Given the description of an element on the screen output the (x, y) to click on. 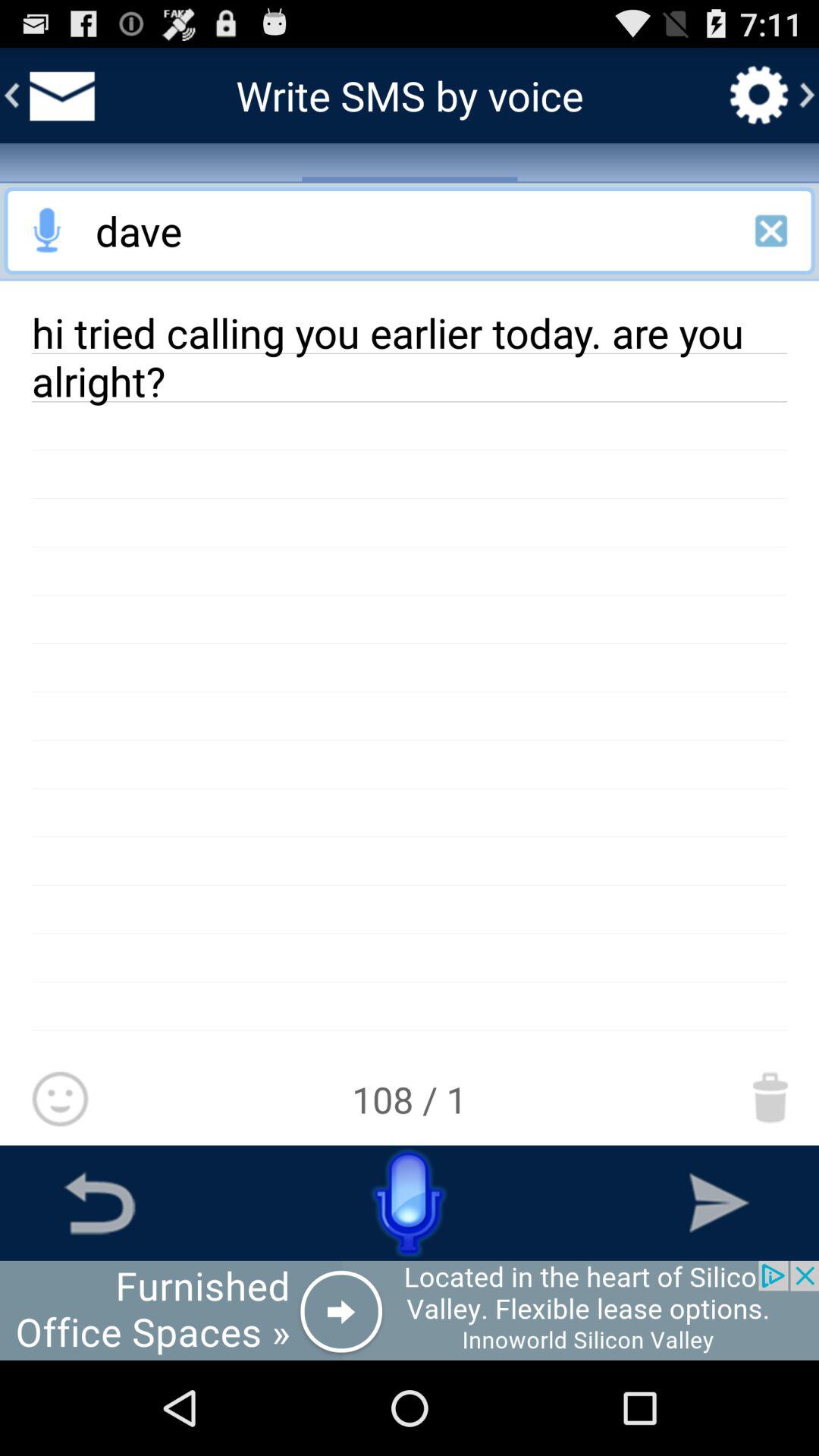
go forward (719, 1202)
